Given the description of an element on the screen output the (x, y) to click on. 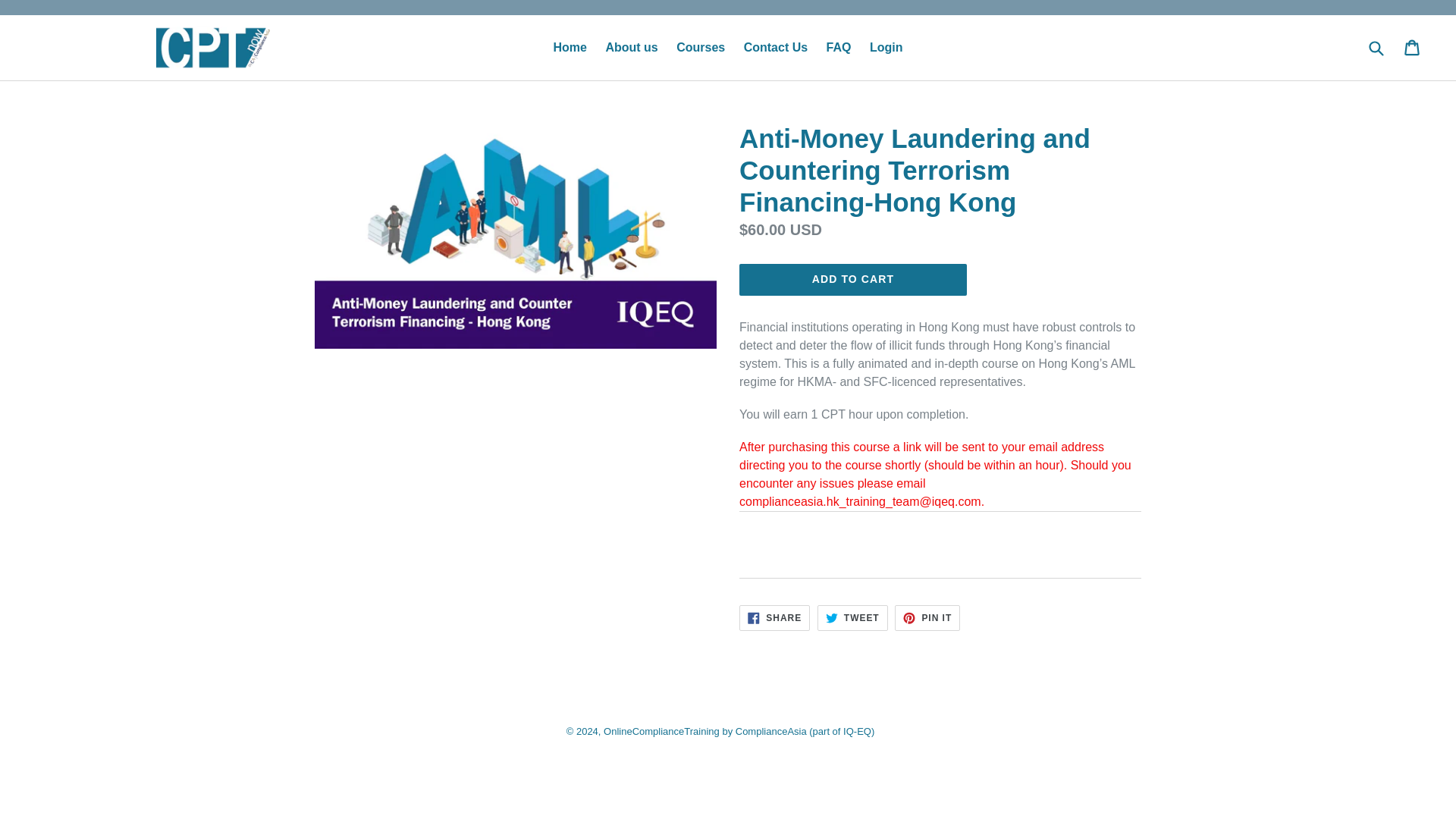
Home (570, 47)
ADD TO CART (852, 279)
Tweet on Twitter (852, 617)
Share on Facebook (927, 617)
Contact Us (774, 617)
About us (775, 47)
Login (630, 47)
FAQ (886, 47)
Courses (838, 47)
Pin on Pinterest (852, 617)
